Given the description of an element on the screen output the (x, y) to click on. 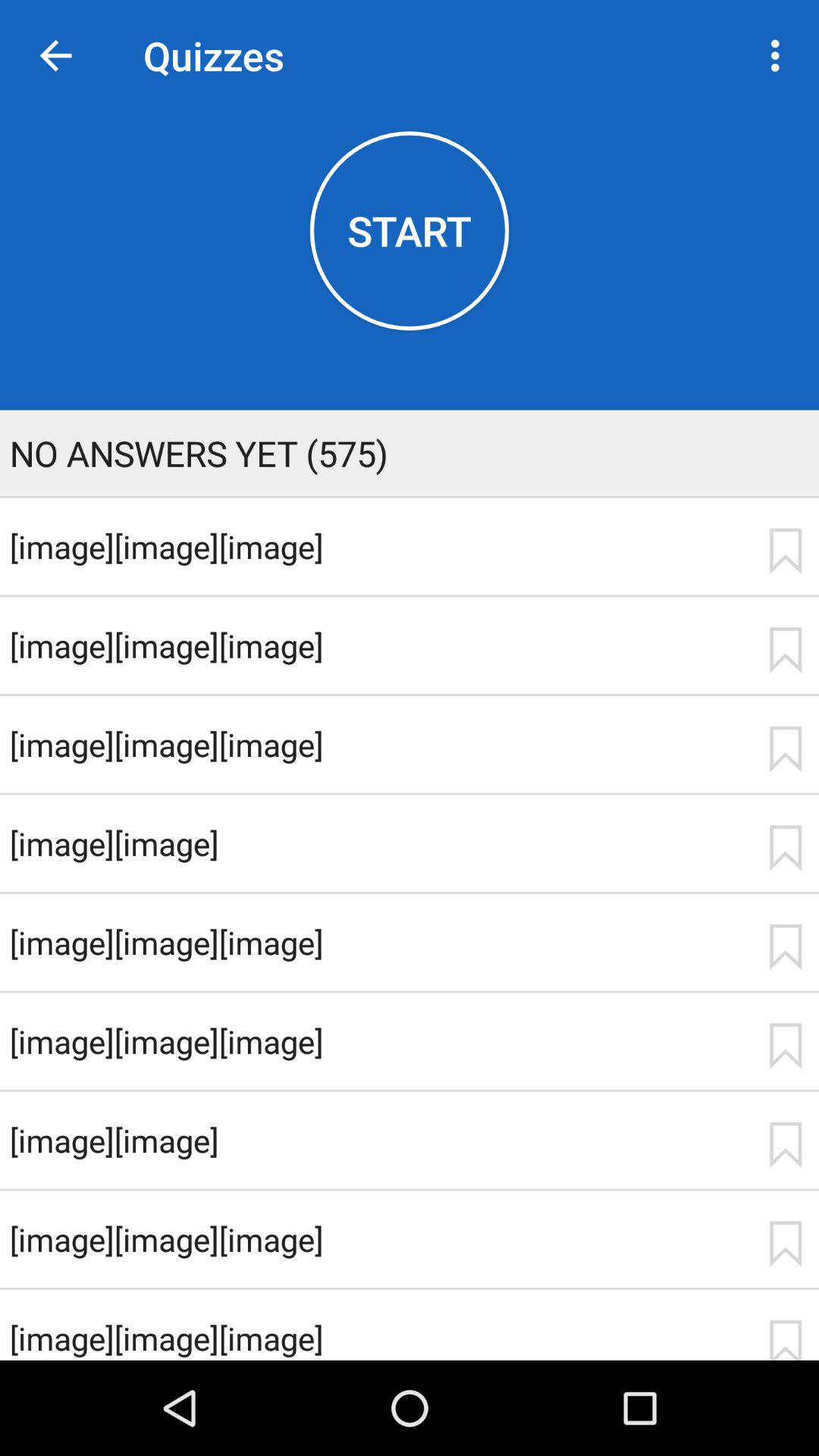
bookmark (784, 1046)
